Given the description of an element on the screen output the (x, y) to click on. 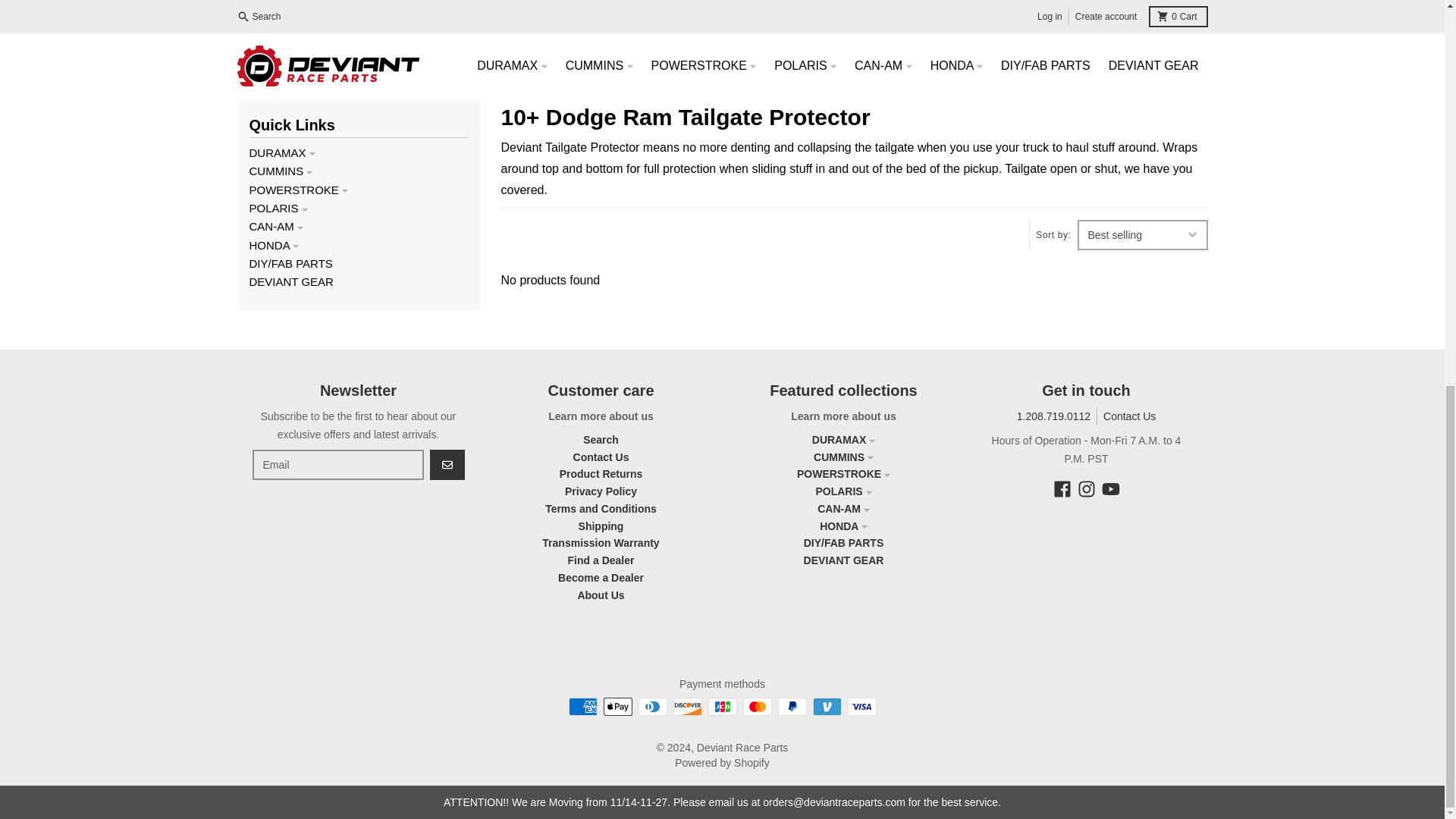
Facebook - Deviant Race Parts (1061, 488)
Instagram - Deviant Race Parts (1085, 488)
YouTube - Deviant Race Parts (1109, 488)
